Given the description of an element on the screen output the (x, y) to click on. 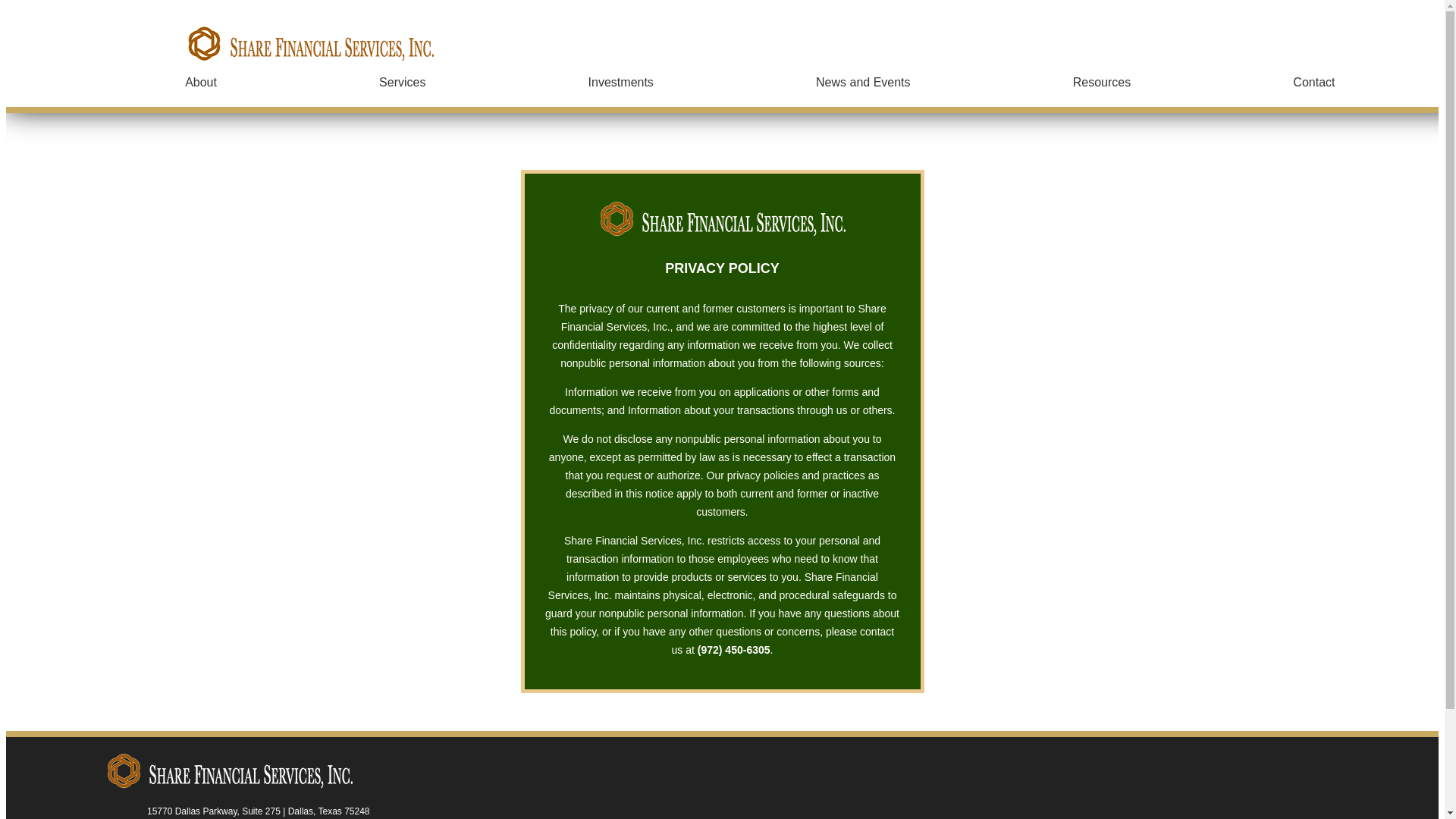
Contact (1313, 82)
Resources (1102, 82)
About (200, 82)
Investments (620, 82)
Services (401, 82)
News and Events (863, 82)
